Given the description of an element on the screen output the (x, y) to click on. 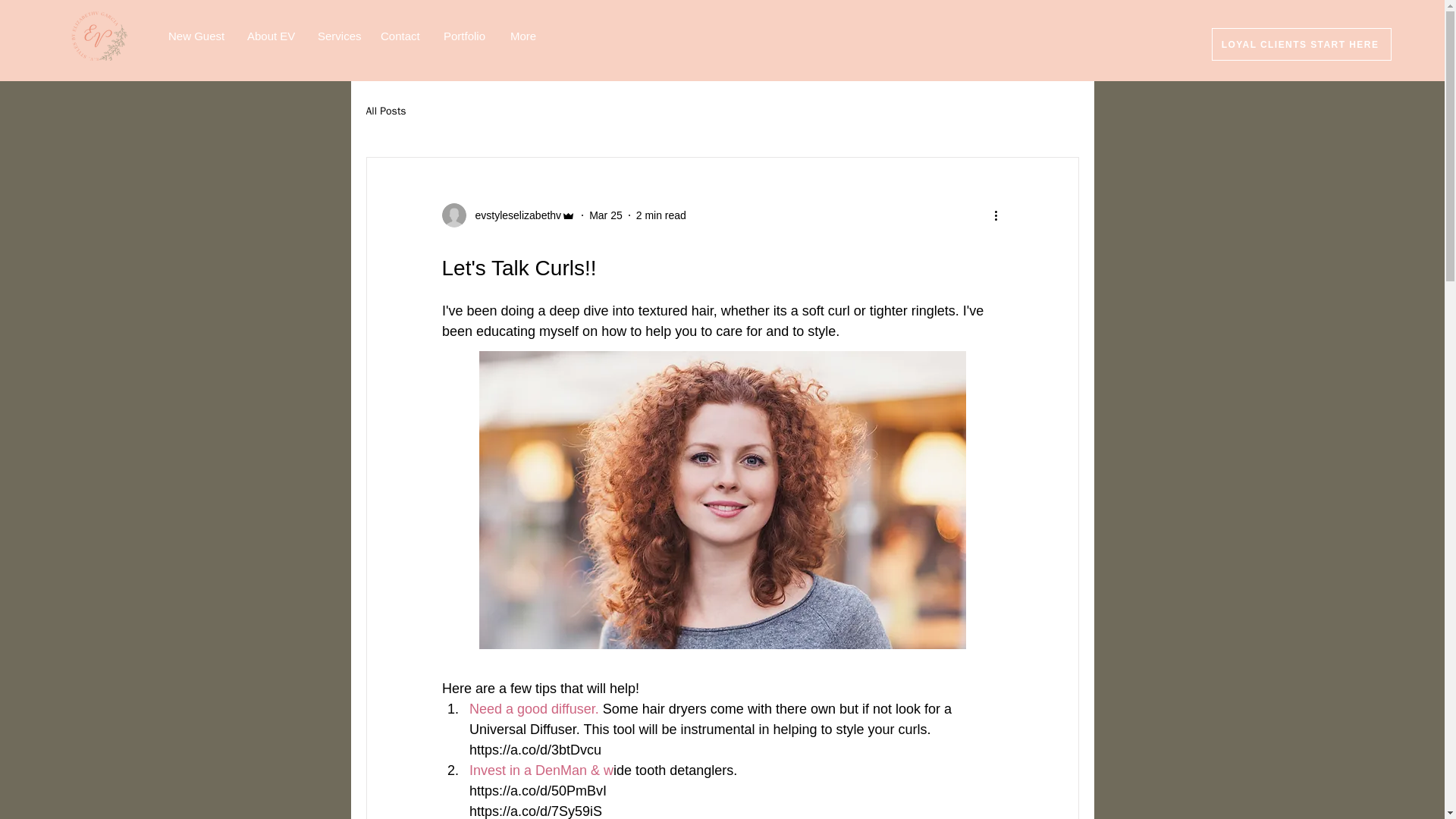
New Guest (196, 35)
Contact (400, 35)
About EV (270, 35)
evstyleselizabethv (512, 215)
Need a good diffuser.  (535, 708)
LOYAL CLIENTS START HERE (1301, 43)
Portfolio (465, 35)
2 min read (660, 215)
Services (337, 35)
Mar 25 (606, 215)
